Given the description of an element on the screen output the (x, y) to click on. 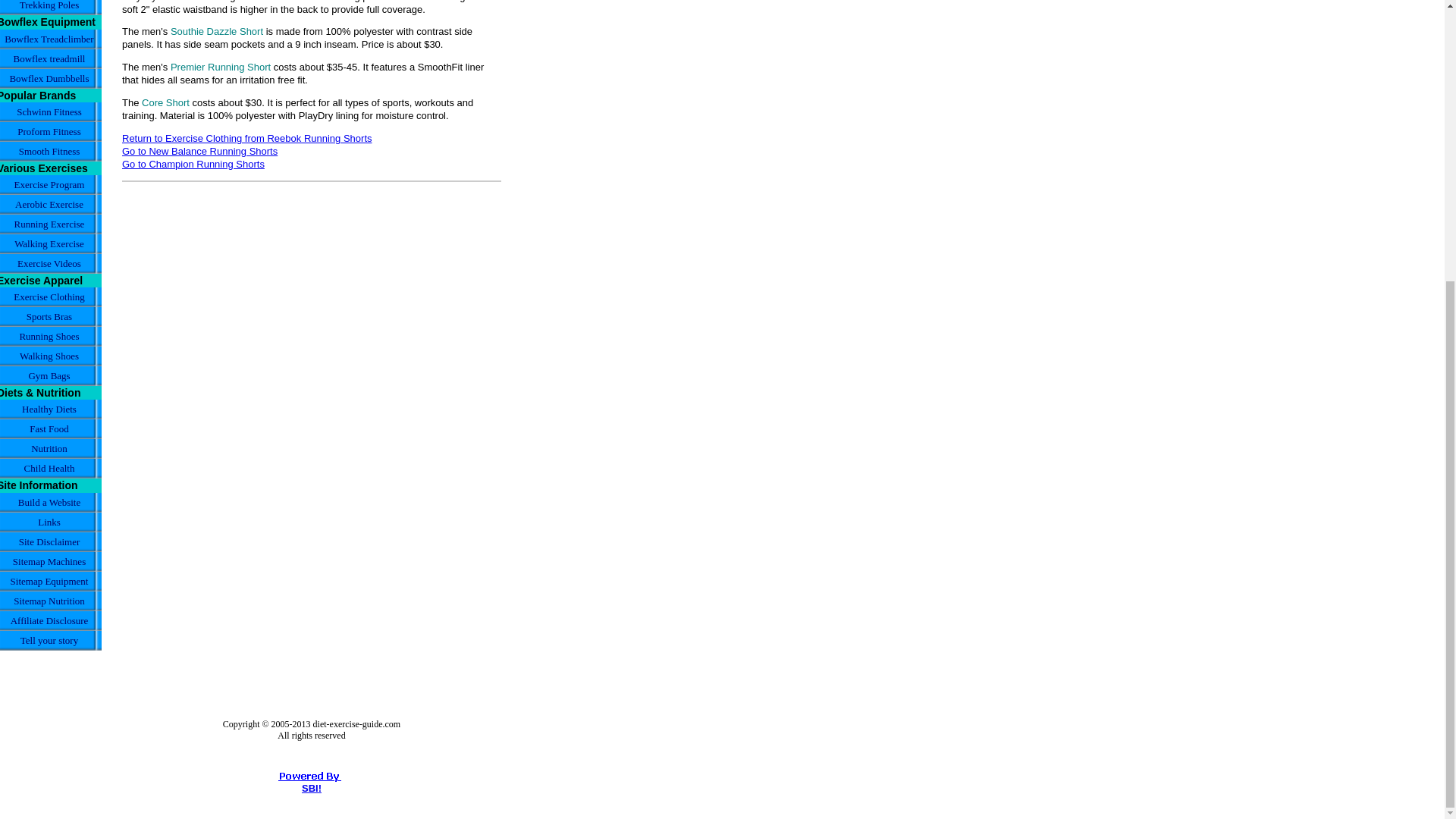
Gym Bags (50, 375)
Bowflex treadmill (50, 58)
Advertisement (249, 572)
Exercise Videos (50, 263)
Site Disclaimer (50, 542)
Walking Shoes (50, 356)
Smooth Fitness (50, 151)
Running Exercise (50, 224)
Aerobic Exercise (50, 204)
Links (50, 522)
Sports Bras (50, 316)
Proform Fitness (50, 131)
Exercise Clothing (50, 297)
Tell your story (50, 640)
Running Shoes (50, 336)
